Given the description of an element on the screen output the (x, y) to click on. 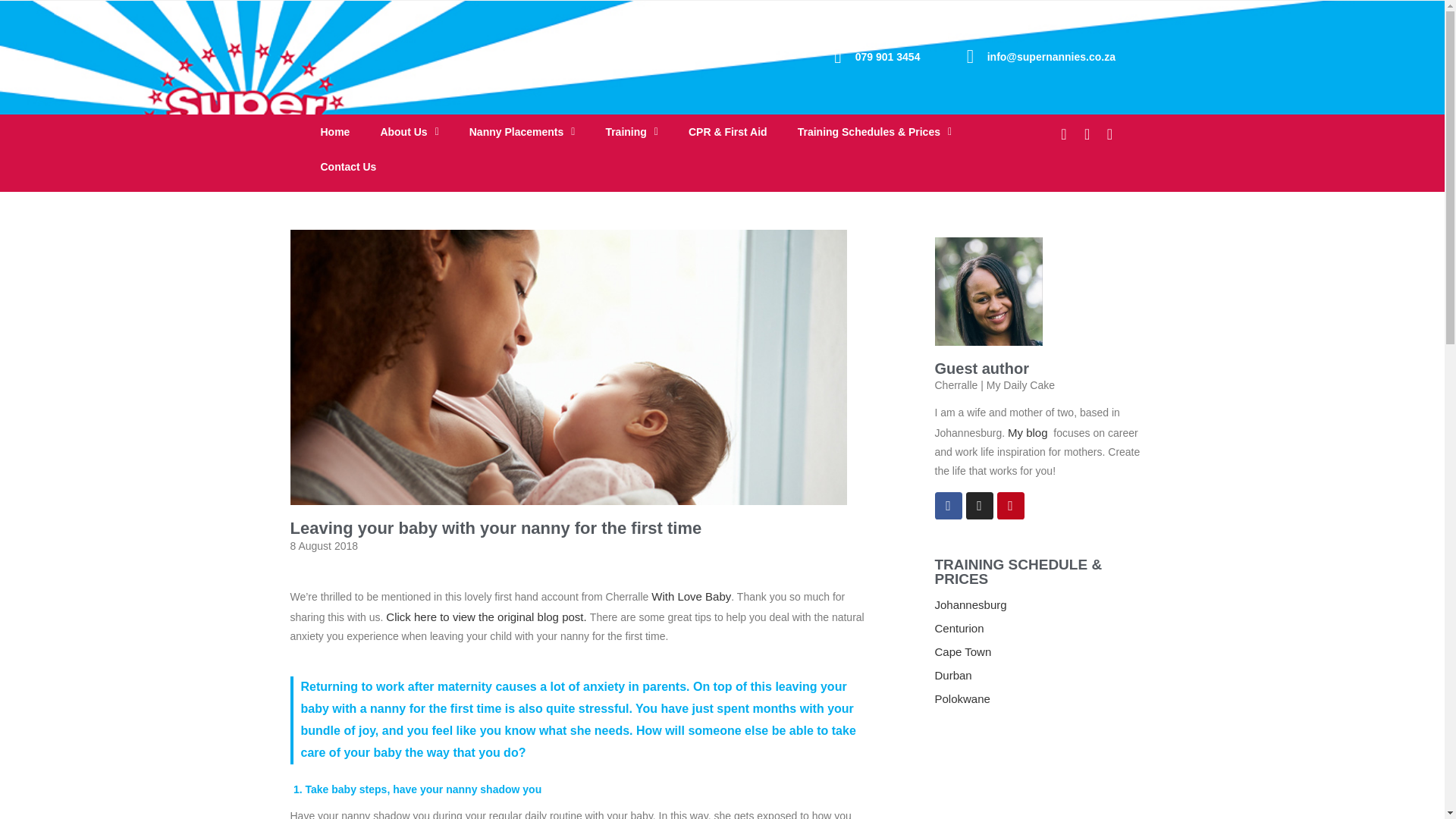
My Daily Cake (1027, 431)
